Given the description of an element on the screen output the (x, y) to click on. 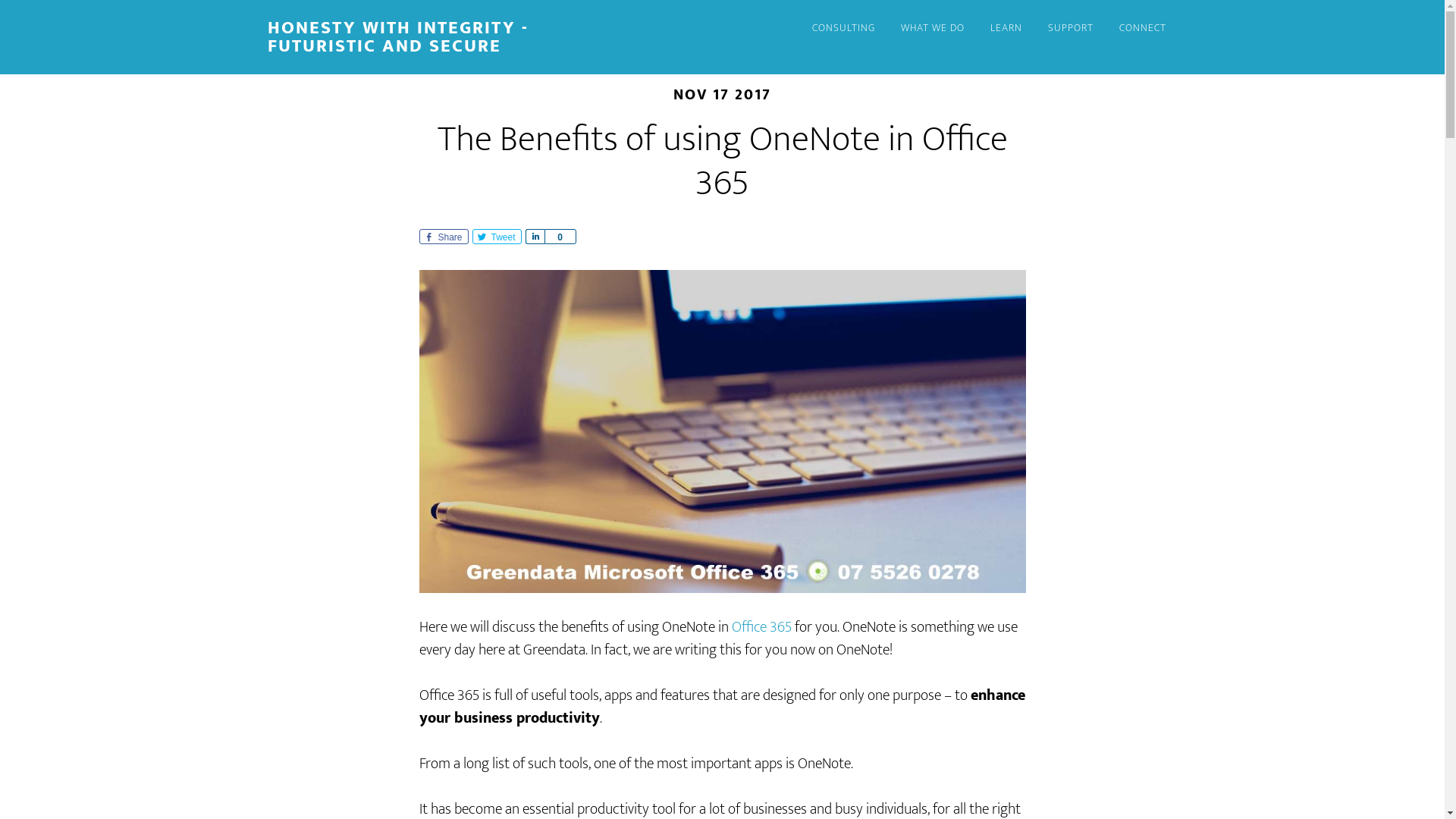
LEARN Element type: text (1005, 28)
HONESTY WITH INTEGRITY - FUTURISTIC AND SECURE Element type: text (396, 36)
CONNECT Element type: text (1141, 28)
Share Element type: text (442, 236)
Tweet Element type: text (495, 236)
CONSULTING Element type: text (843, 28)
Share Element type: text (533, 236)
SUPPORT Element type: text (1069, 28)
Office 365 Element type: text (760, 627)
WHAT WE DO Element type: text (931, 28)
0 Element type: text (560, 236)
